Given the description of an element on the screen output the (x, y) to click on. 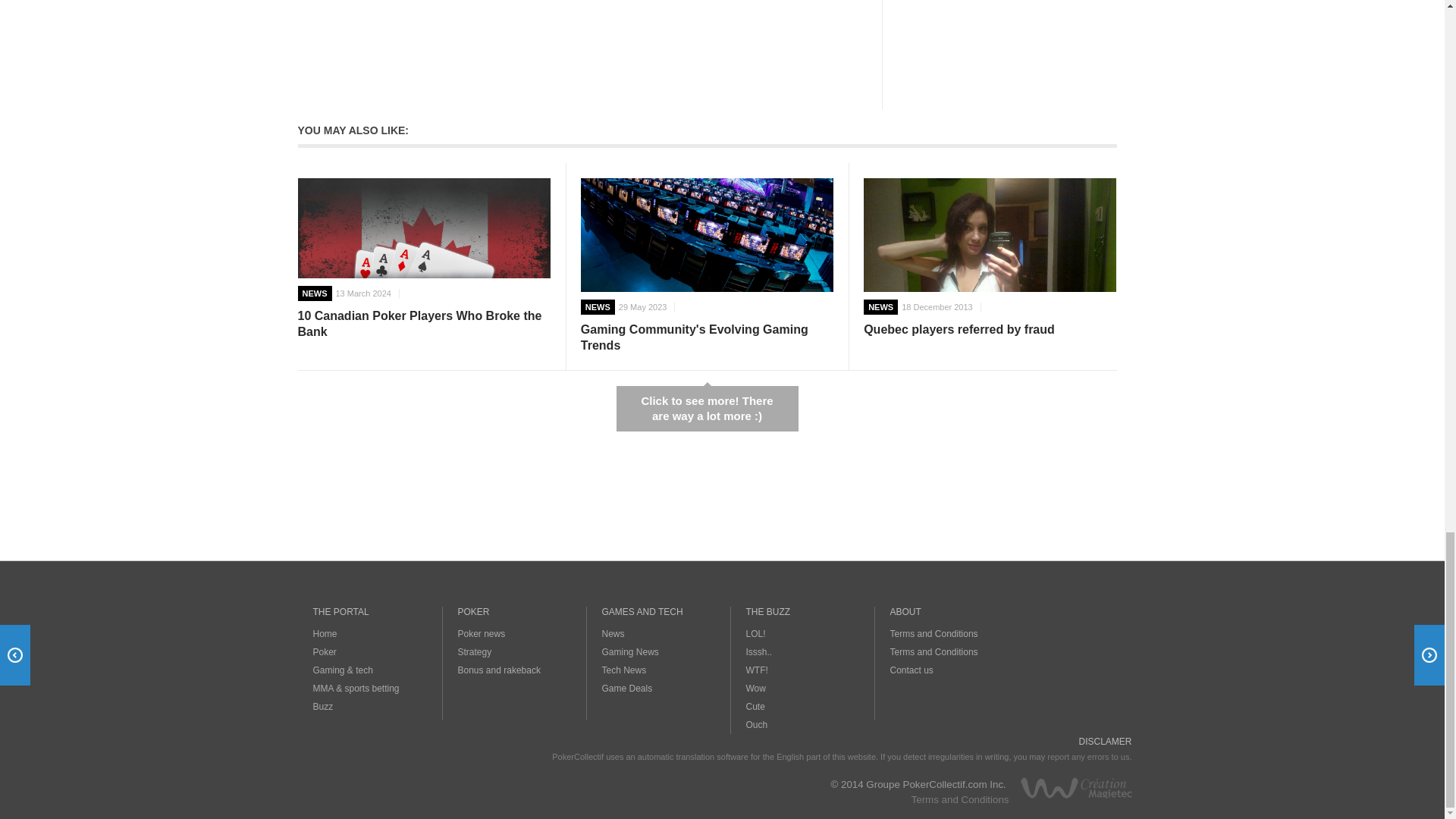
Quebec players referred by fraud (989, 272)
10 Canadian Poker Players Who Broke the Bank (423, 227)
Gaming Community's Evolving  Gaming Trends (706, 237)
